Given the description of an element on the screen output the (x, y) to click on. 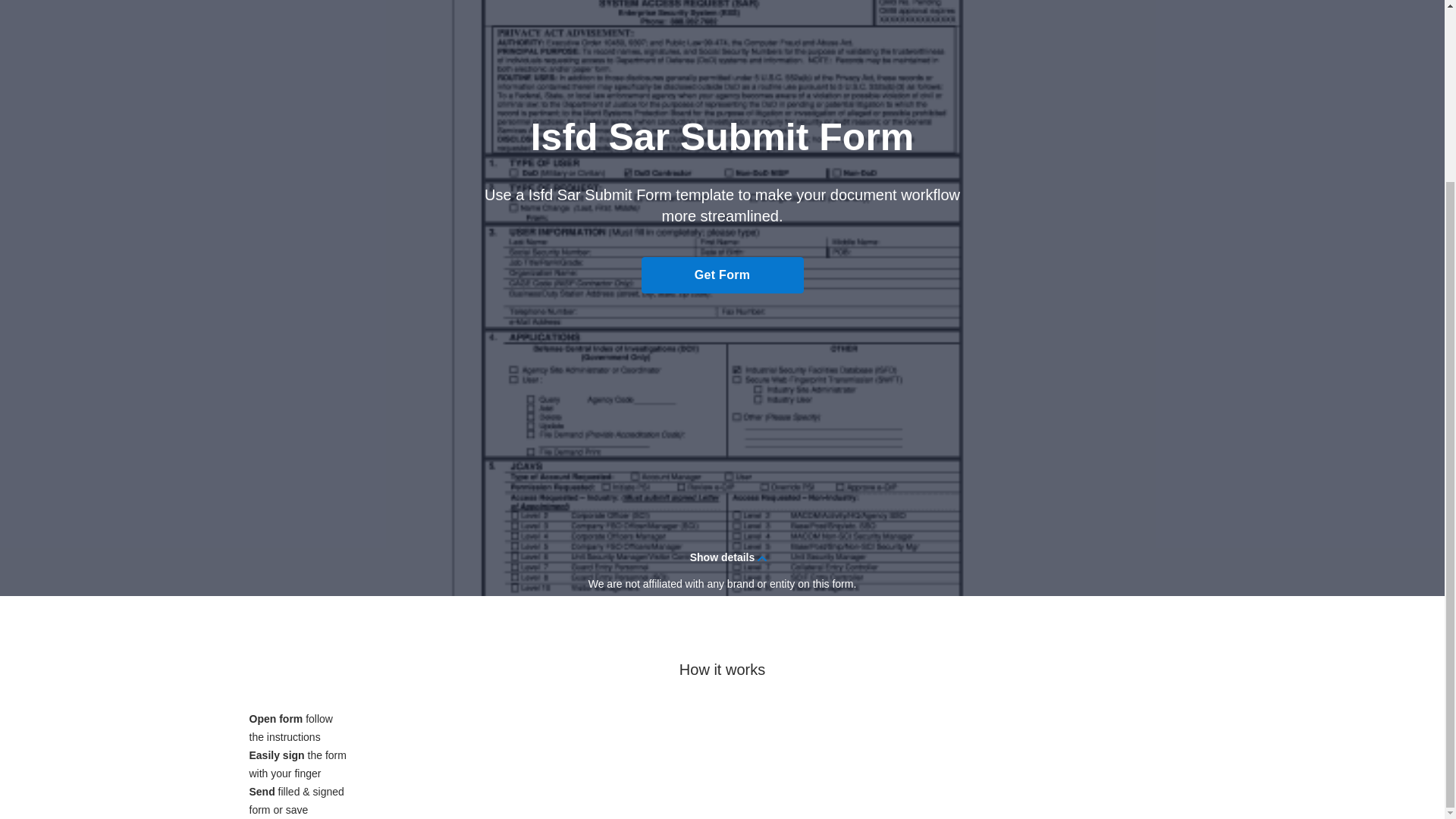
Get Form (722, 275)
Show details (722, 557)
